Given the description of an element on the screen output the (x, y) to click on. 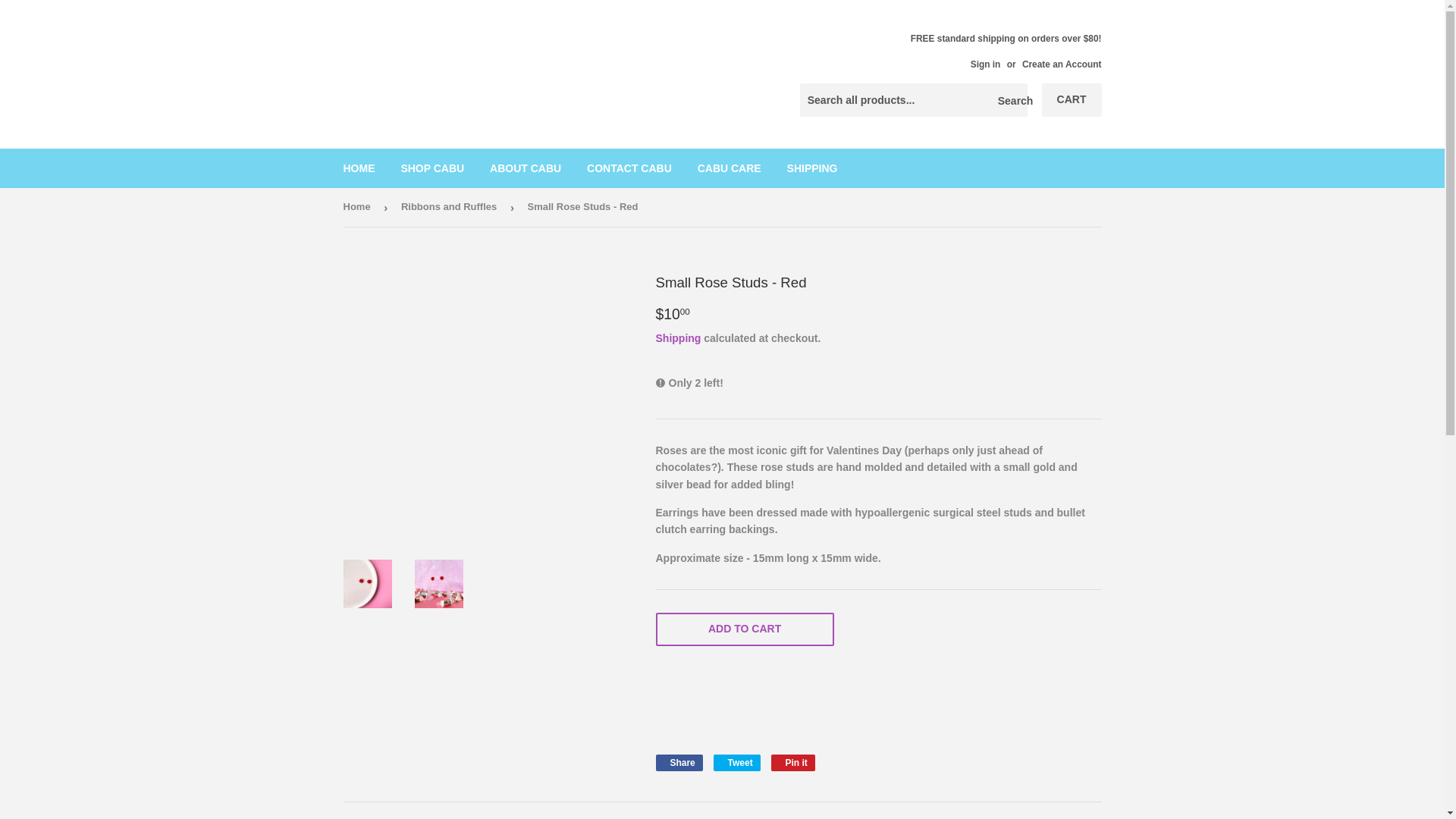
CONTACT CABU (628, 168)
SHIPPING (793, 762)
CABU CARE (812, 168)
ADD TO CART (729, 168)
Pin on Pinterest (743, 629)
ABOUT CABU (793, 762)
Tweet on Twitter (525, 168)
Create an Account (736, 762)
HOME (1062, 63)
Home (359, 168)
Search (736, 762)
Shipping (358, 207)
